Given the description of an element on the screen output the (x, y) to click on. 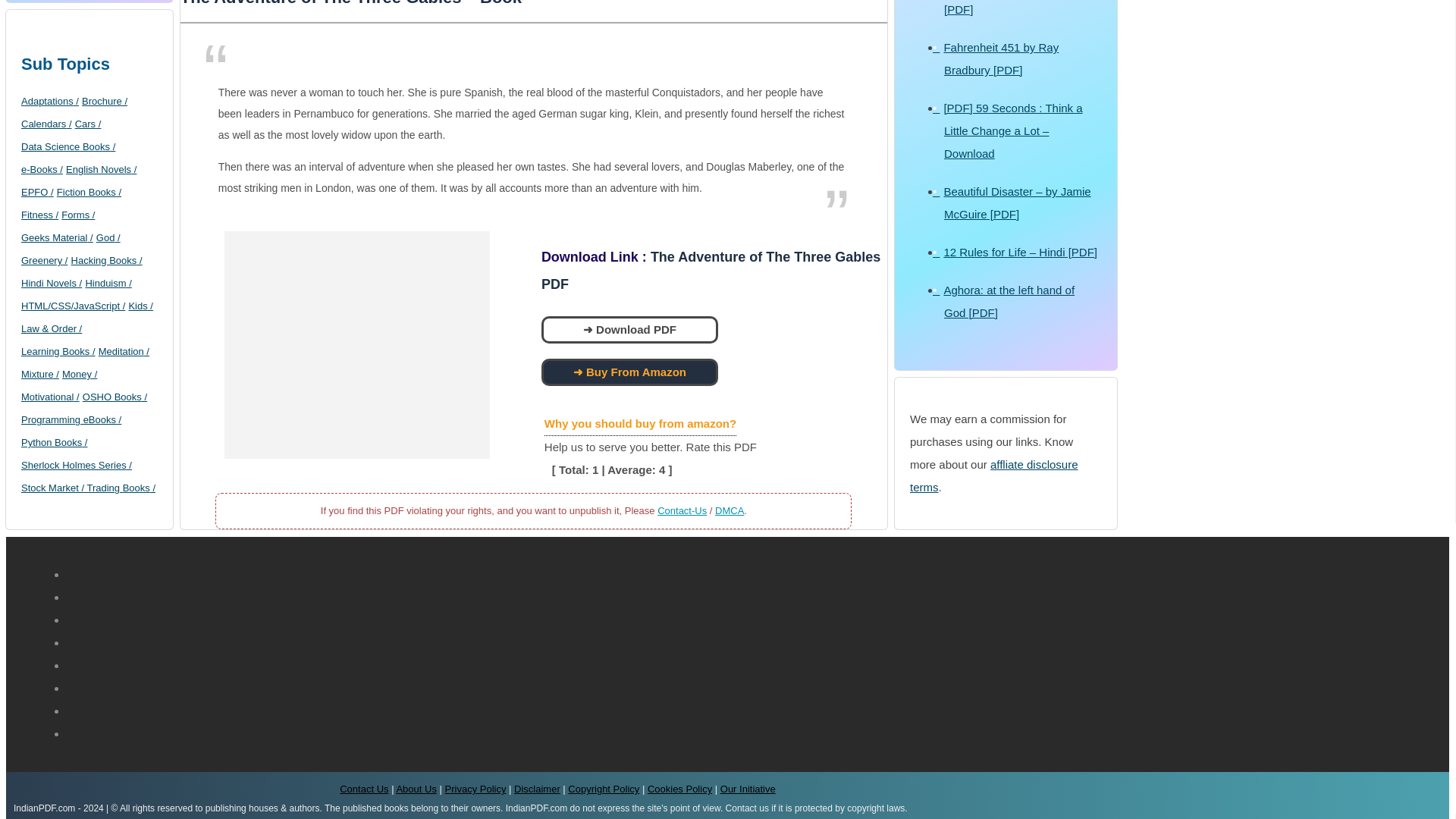
Contact-Us (682, 510)
Buy From Amazon (629, 371)
Download PDF (629, 329)
Few words from the book (534, 127)
Download PDF (625, 328)
DMCA (729, 510)
Buy From Amazon (625, 371)
